Given the description of an element on the screen output the (x, y) to click on. 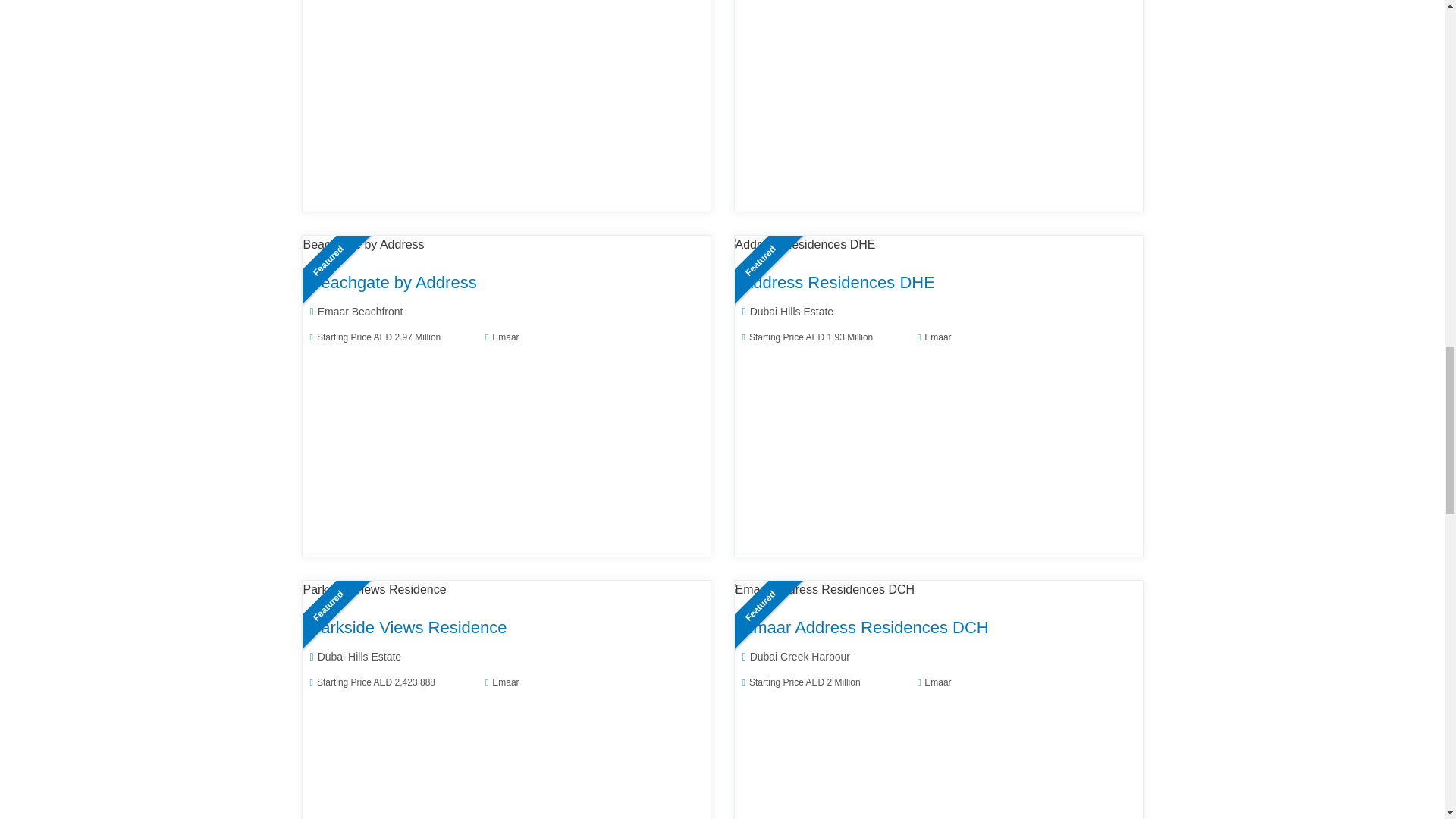
Emaar Address Residences DCH (819, 589)
Parkside Views Residence (368, 589)
Featured (358, 244)
Address Residences DHE (799, 244)
Beachgate by Address (358, 244)
